Given the description of an element on the screen output the (x, y) to click on. 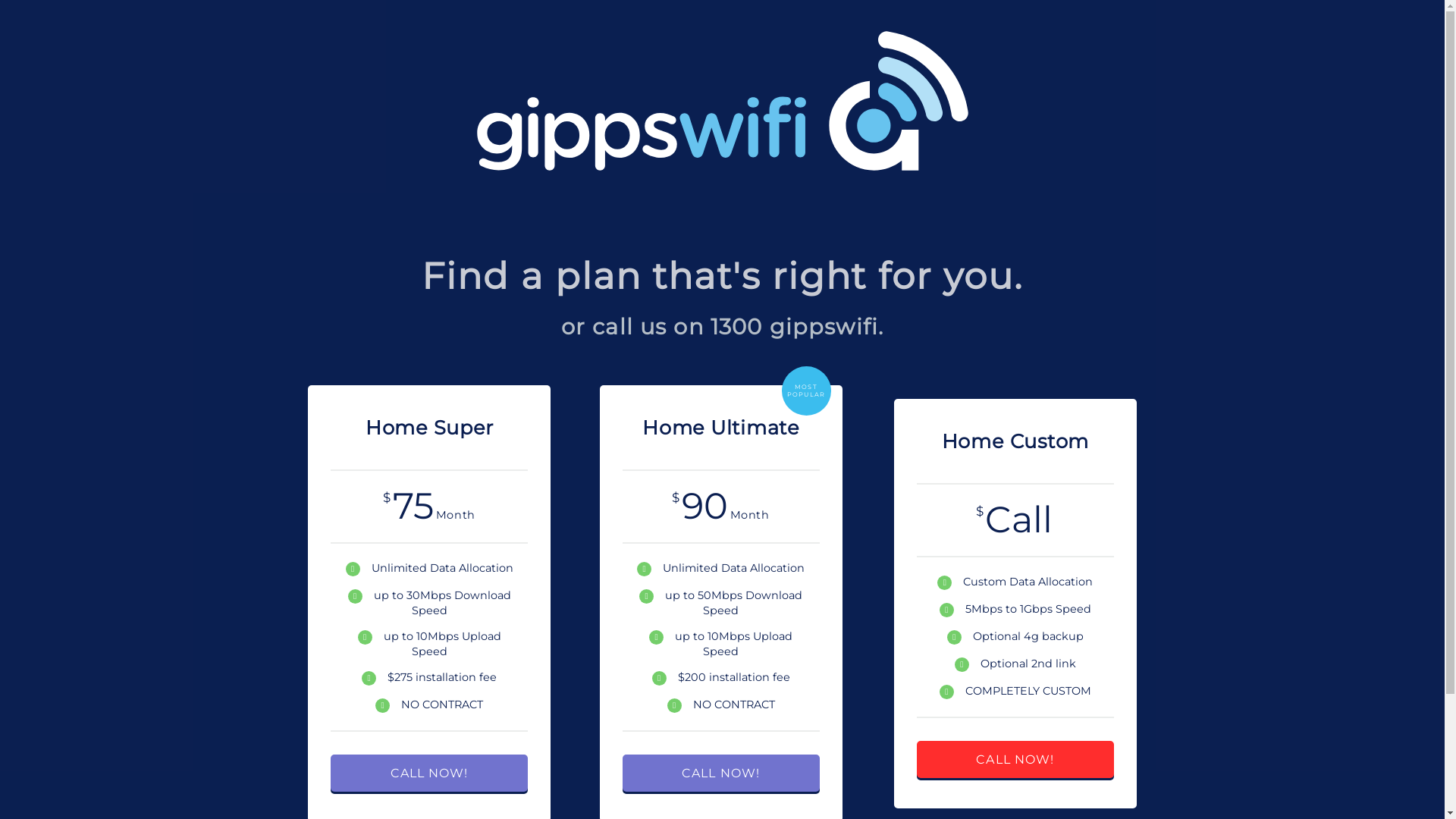
CALL NOW! Element type: text (429, 772)
CALL NOW! Element type: text (1014, 759)
CALL NOW! Element type: text (720, 772)
